Given the description of an element on the screen output the (x, y) to click on. 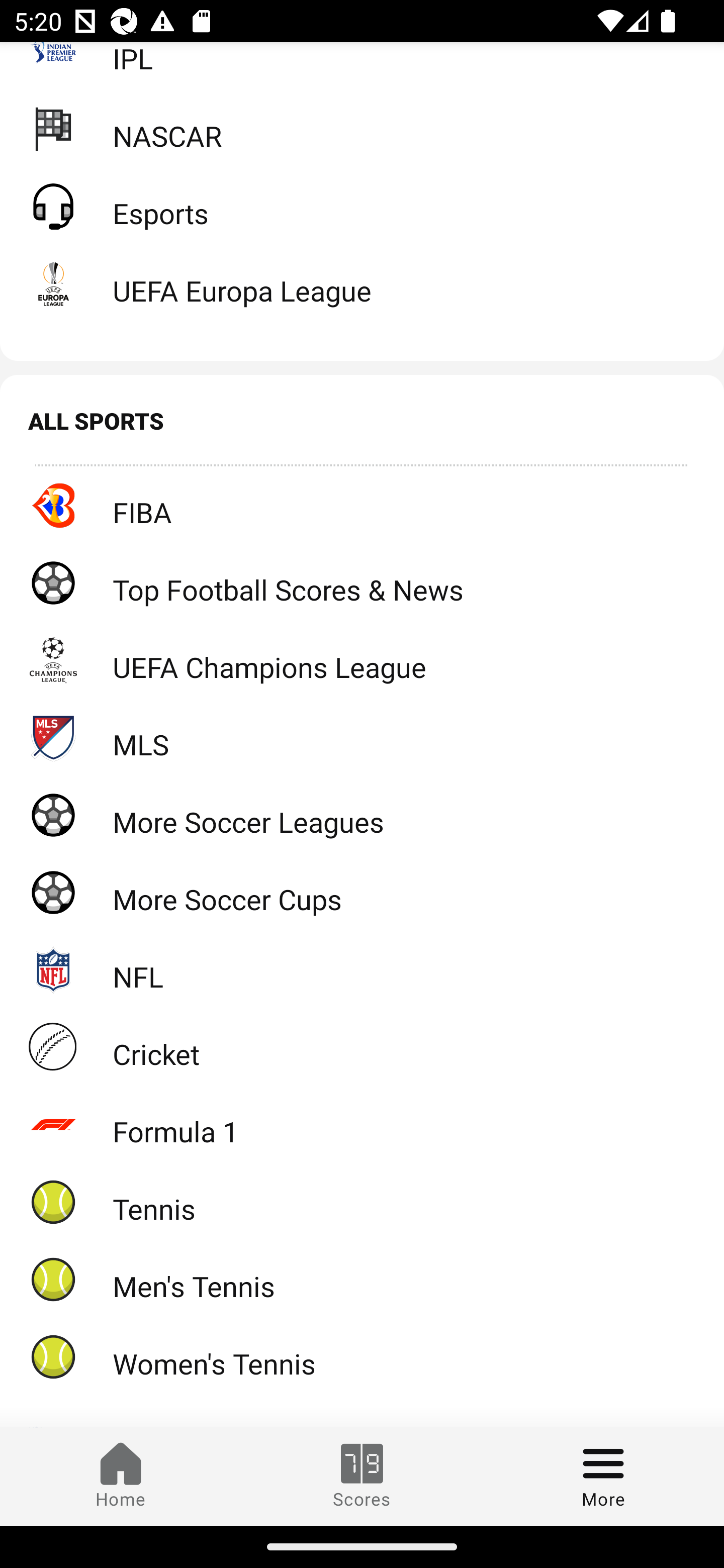
NASCAR (362, 128)
Esports (362, 205)
UEFA Europa League (362, 282)
FIBA  (362, 504)
Top Football Scores & News (362, 582)
UEFA Champions League (362, 659)
MLS (362, 737)
More Soccer Leagues (362, 814)
More Soccer Cups (362, 891)
NFL (362, 969)
Cricket G Cricket (362, 1046)
Formula 1 (362, 1124)
Tennis (362, 1201)
Men's Tennis (362, 1278)
Women's Tennis (362, 1356)
Home (120, 1475)
Scores (361, 1475)
